Given the description of an element on the screen output the (x, y) to click on. 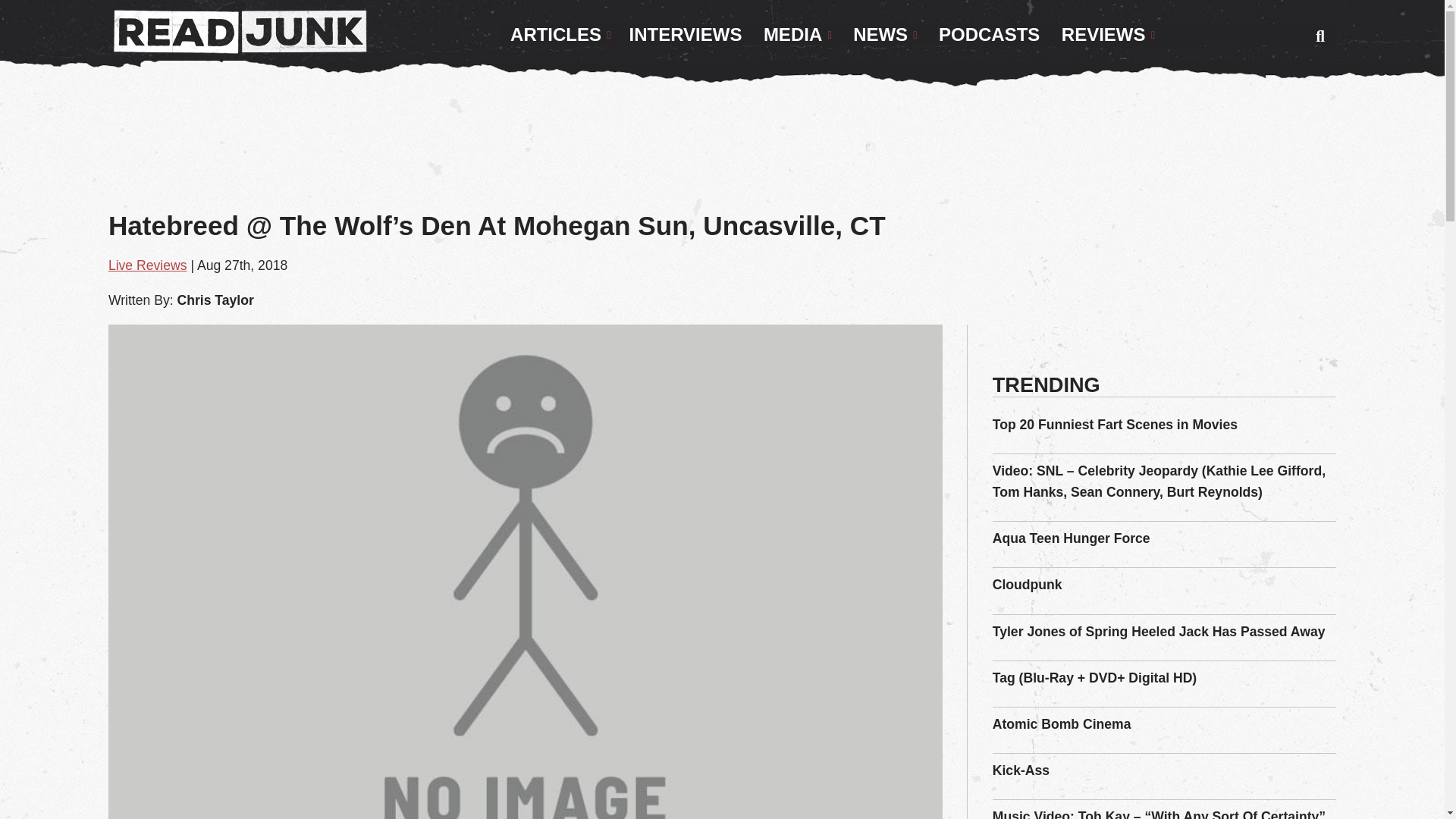
NEWS (885, 34)
MEDIA (797, 34)
ARTICLES (560, 34)
PODCASTS (989, 34)
Posts by Chris Taylor (214, 299)
REVIEWS (1107, 34)
INTERVIEWS (685, 34)
